Given the description of an element on the screen output the (x, y) to click on. 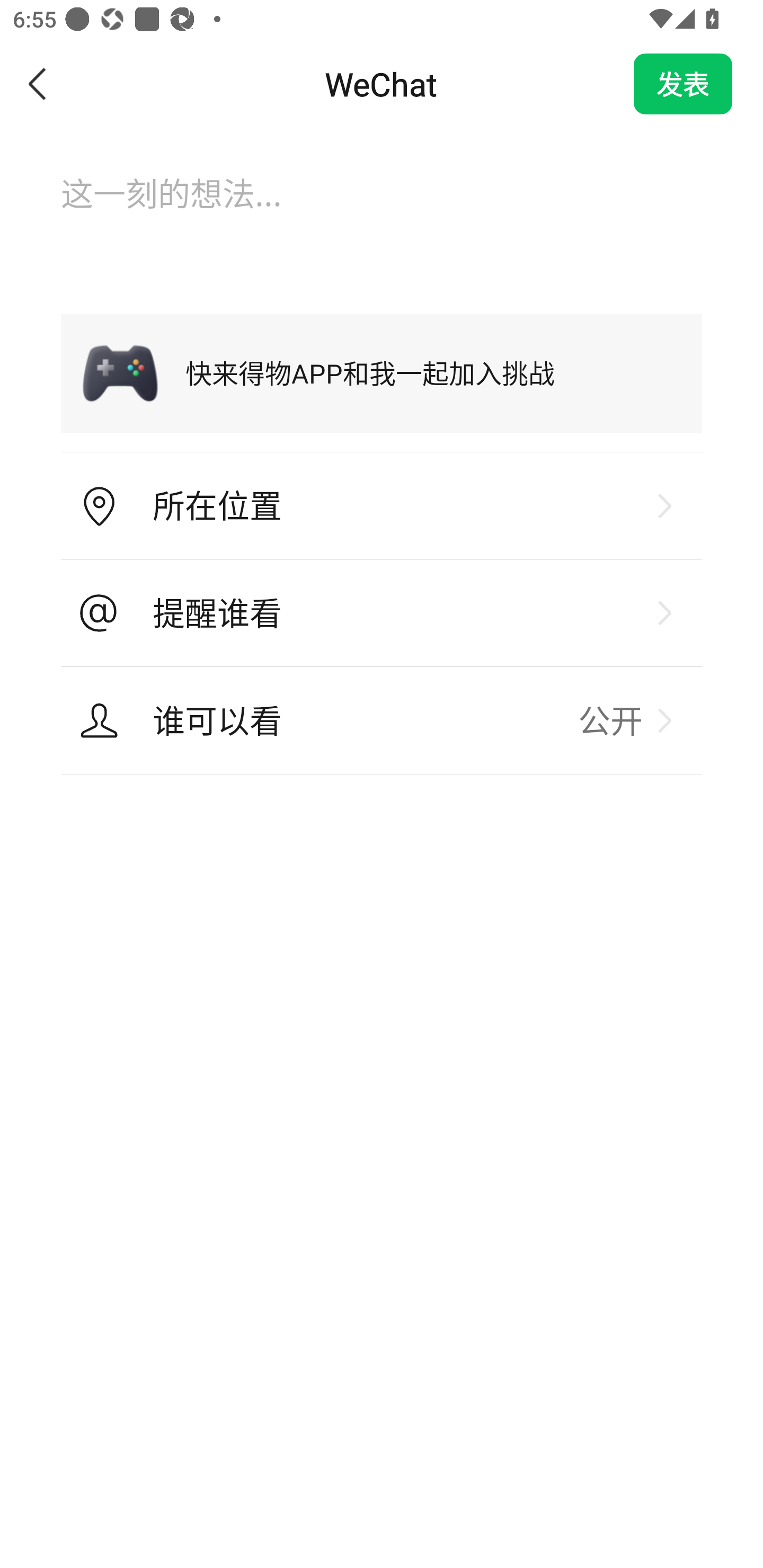
返回 (38, 83)
发表 (683, 83)
这一刻的想法... (381, 211)
快来得物APP和我一起加入挑战 (381, 372)
所在位置 (381, 506)
提醒谁看  提醒谁看 (381, 612)
谁可以看 公开 (381, 720)
